Given the description of an element on the screen output the (x, y) to click on. 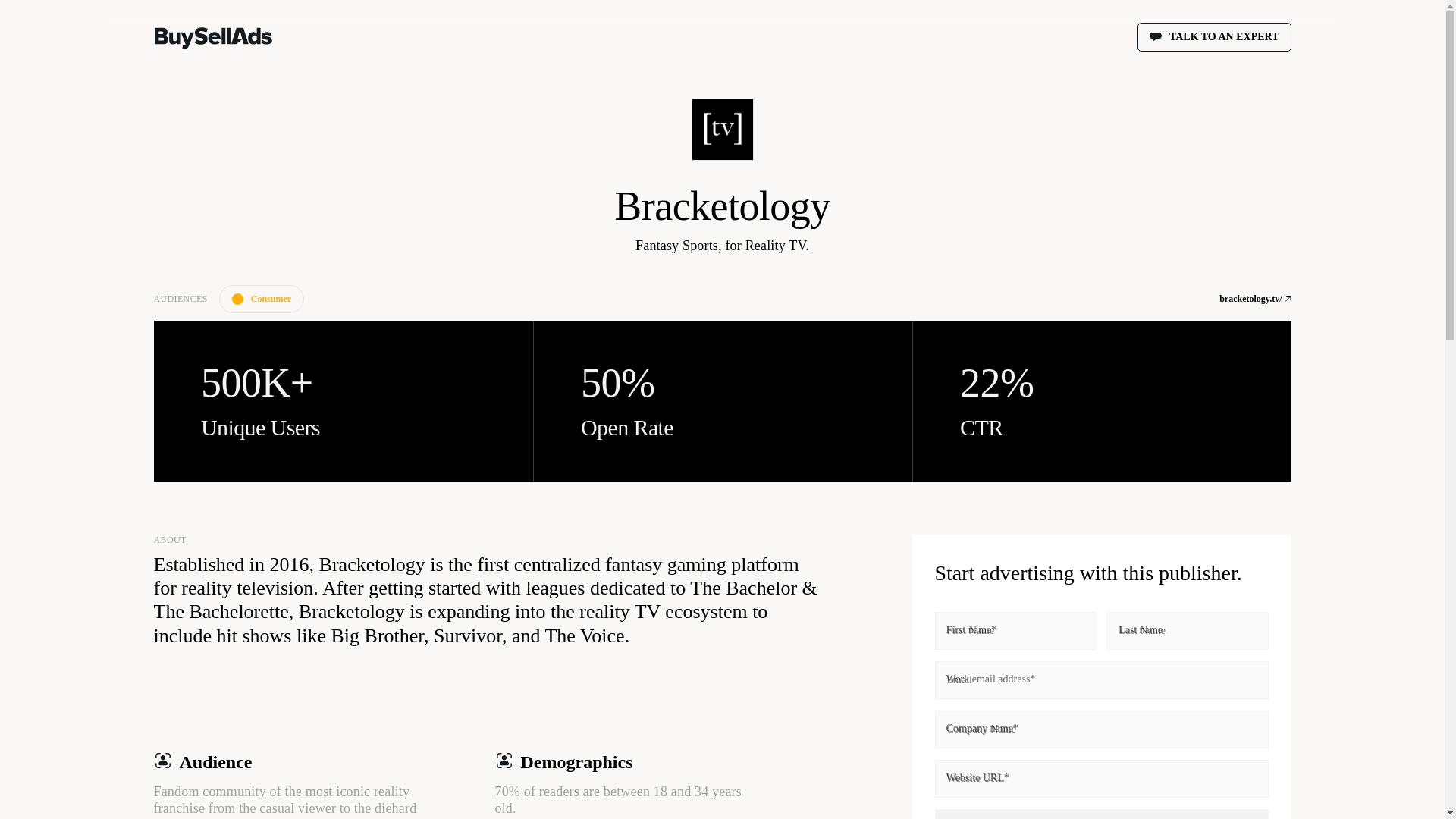
TALK TO AN EXPERT (1214, 36)
Consumer (261, 298)
